Given the description of an element on the screen output the (x, y) to click on. 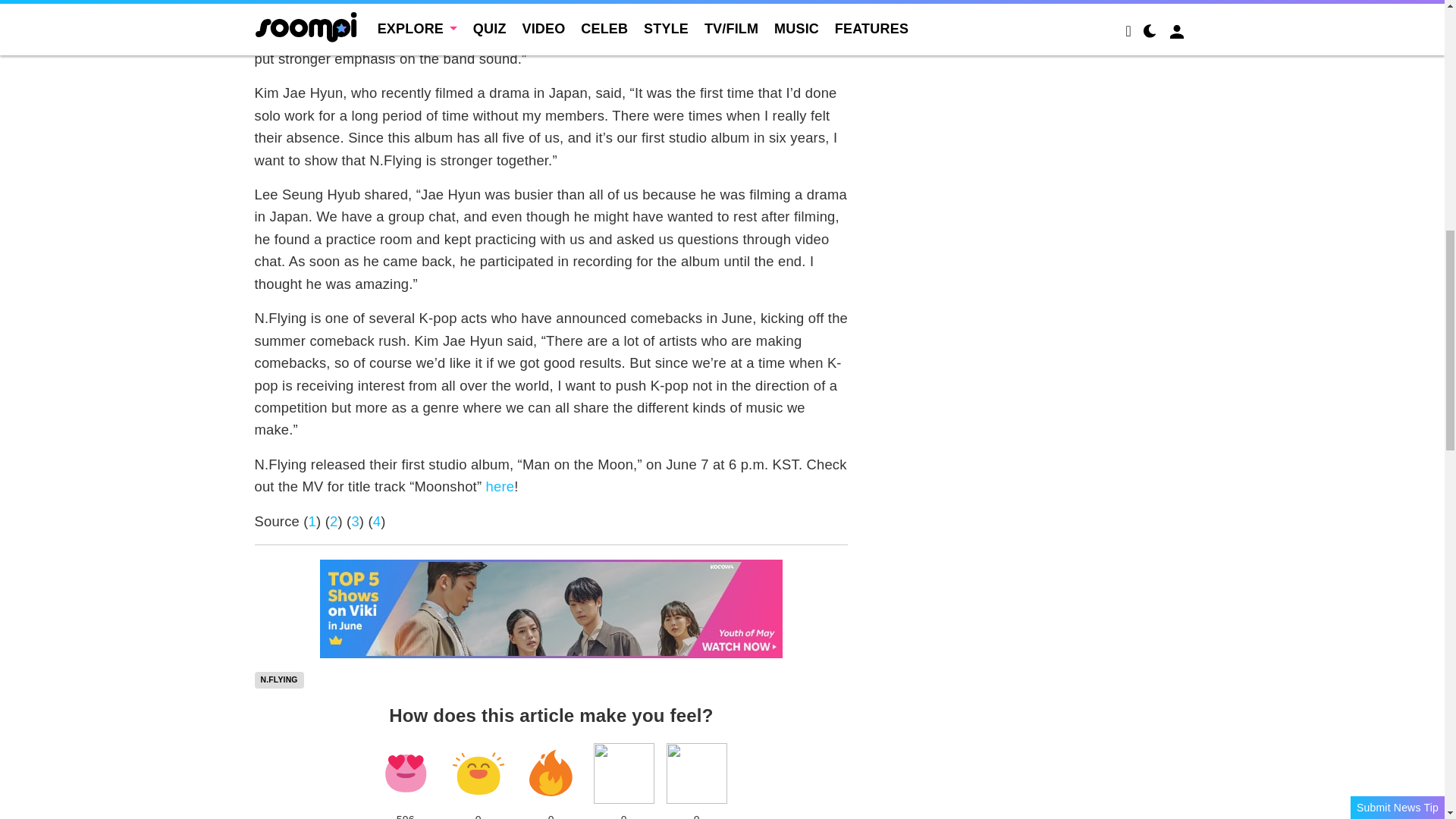
fire (550, 772)
Heart (405, 772)
lol (478, 772)
Crying (623, 772)
N.Flying (279, 679)
OMG (696, 772)
here (500, 486)
heart (405, 772)
LOL (478, 772)
N.FLYING (279, 679)
Fire (550, 772)
